Given the description of an element on the screen output the (x, y) to click on. 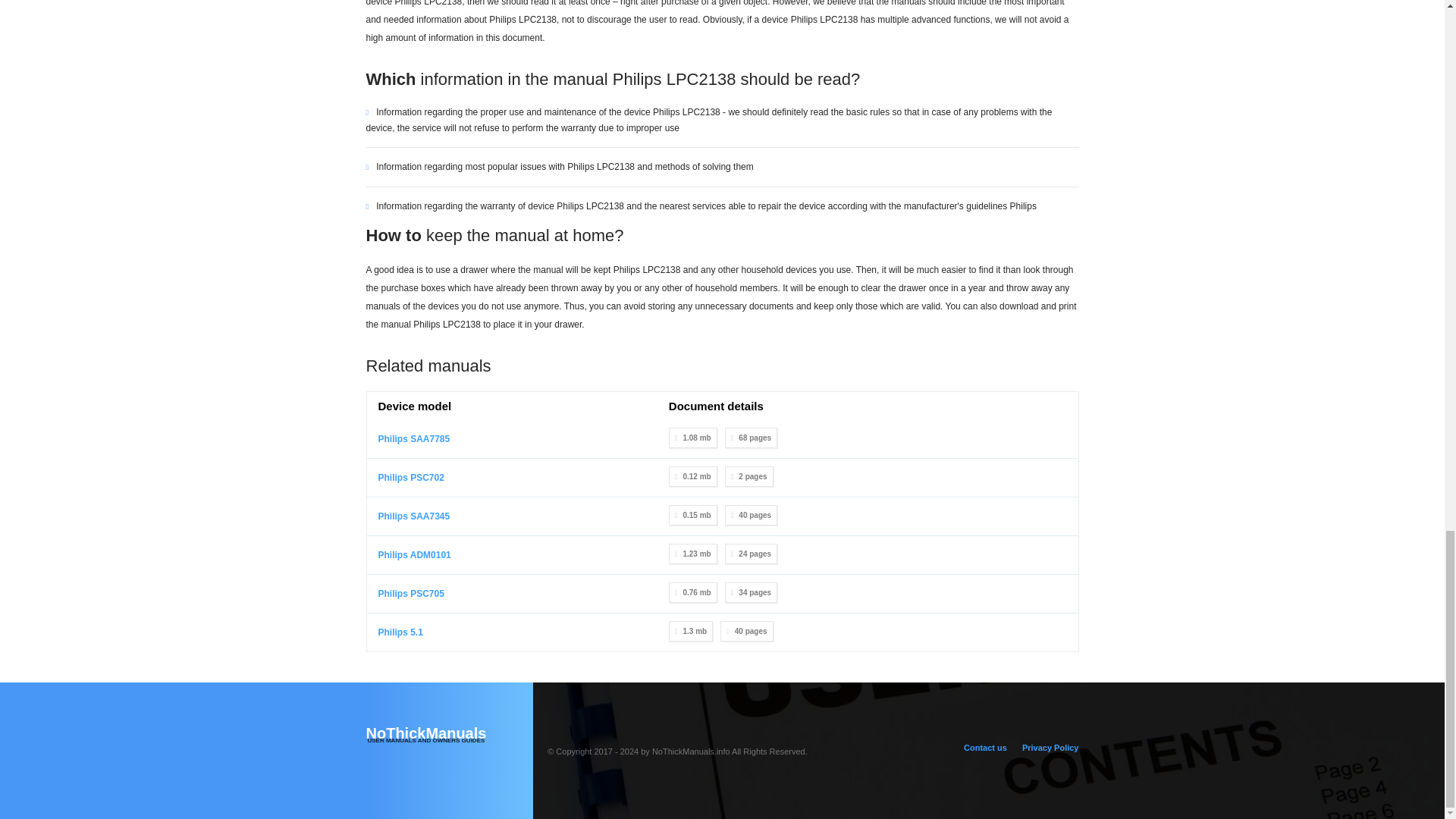
Contact us (985, 747)
Privacy Policy (1050, 747)
Philips ADM0101 (448, 733)
Philips PSC705 (413, 554)
Philips SAA7345 (410, 593)
Philips PSC702 (413, 516)
Philips SAA7785 (410, 477)
Philips 5.1 (413, 439)
